Given the description of an element on the screen output the (x, y) to click on. 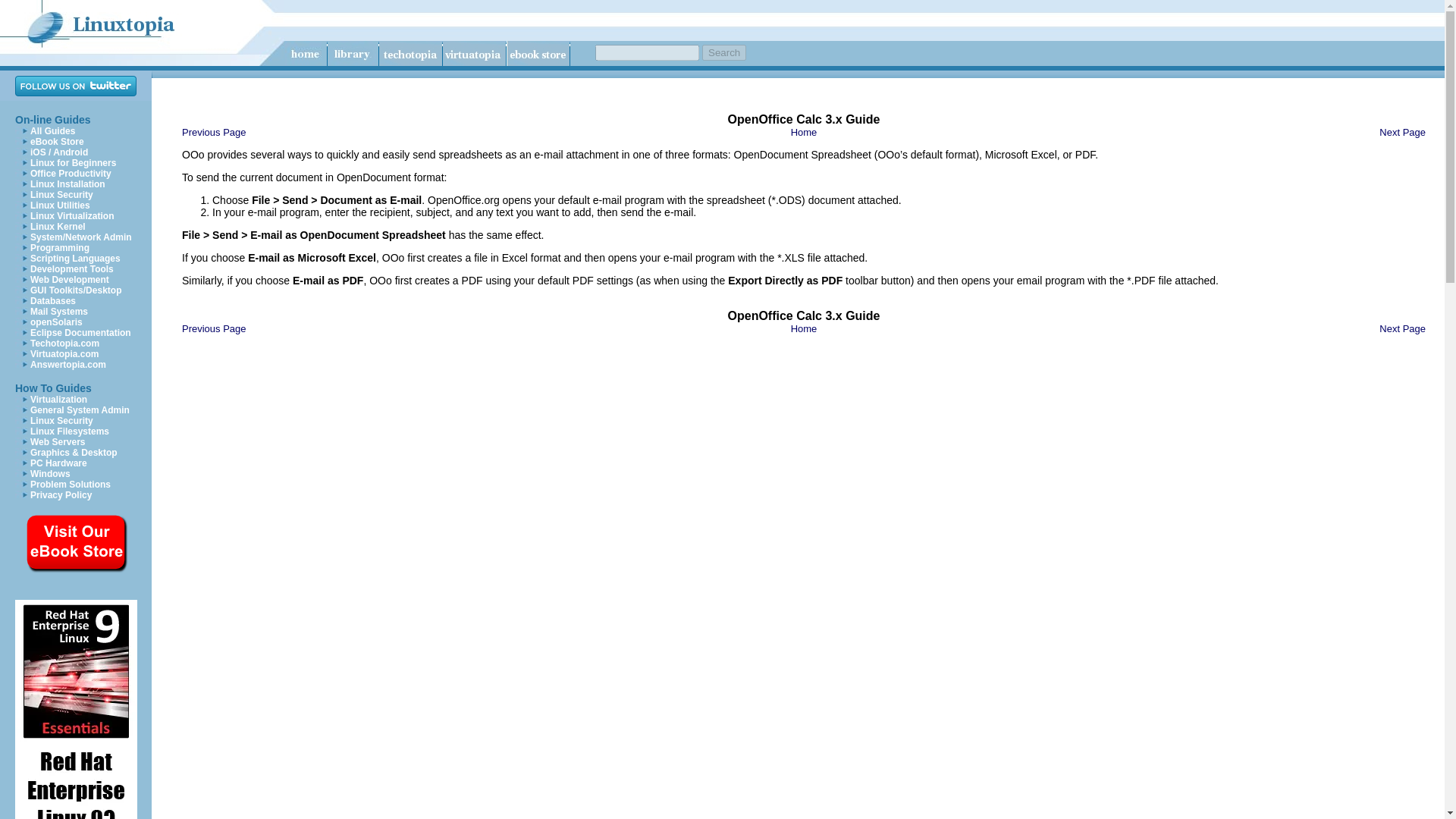
Linux Utilities (60, 204)
Linux for Beginners (73, 163)
PC Hardware (58, 462)
Eclipse Documentation (80, 332)
Linux Filesystems (69, 430)
Search (723, 52)
eBook Store (57, 141)
Web Servers (57, 441)
Linux Security (61, 194)
Next Page (1401, 132)
Privacy Policy (60, 494)
Office Productivity (71, 173)
Development Tools (71, 268)
Search (723, 52)
All Guides (52, 131)
